Given the description of an element on the screen output the (x, y) to click on. 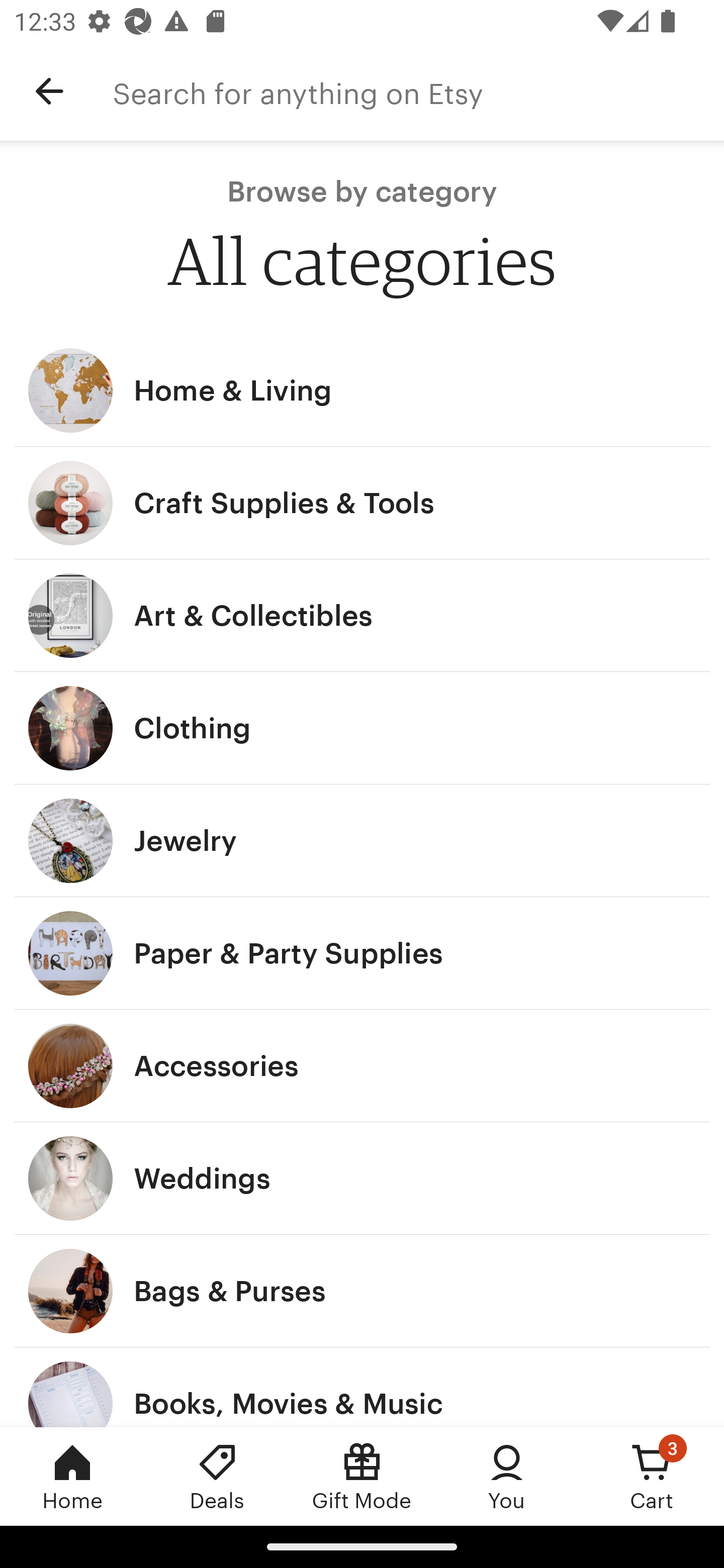
Navigate up (49, 91)
Search for anything on Etsy (418, 91)
Home & Living (361, 389)
Craft Supplies & Tools (361, 502)
Art & Collectibles (361, 615)
Clothing (361, 728)
Jewelry (361, 840)
Paper & Party Supplies (361, 952)
Accessories (361, 1065)
Weddings (361, 1178)
Bags & Purses (361, 1290)
Books, Movies & Music (361, 1386)
Deals (216, 1475)
Gift Mode (361, 1475)
You (506, 1475)
Cart, 3 new notifications Cart (651, 1475)
